Given the description of an element on the screen output the (x, y) to click on. 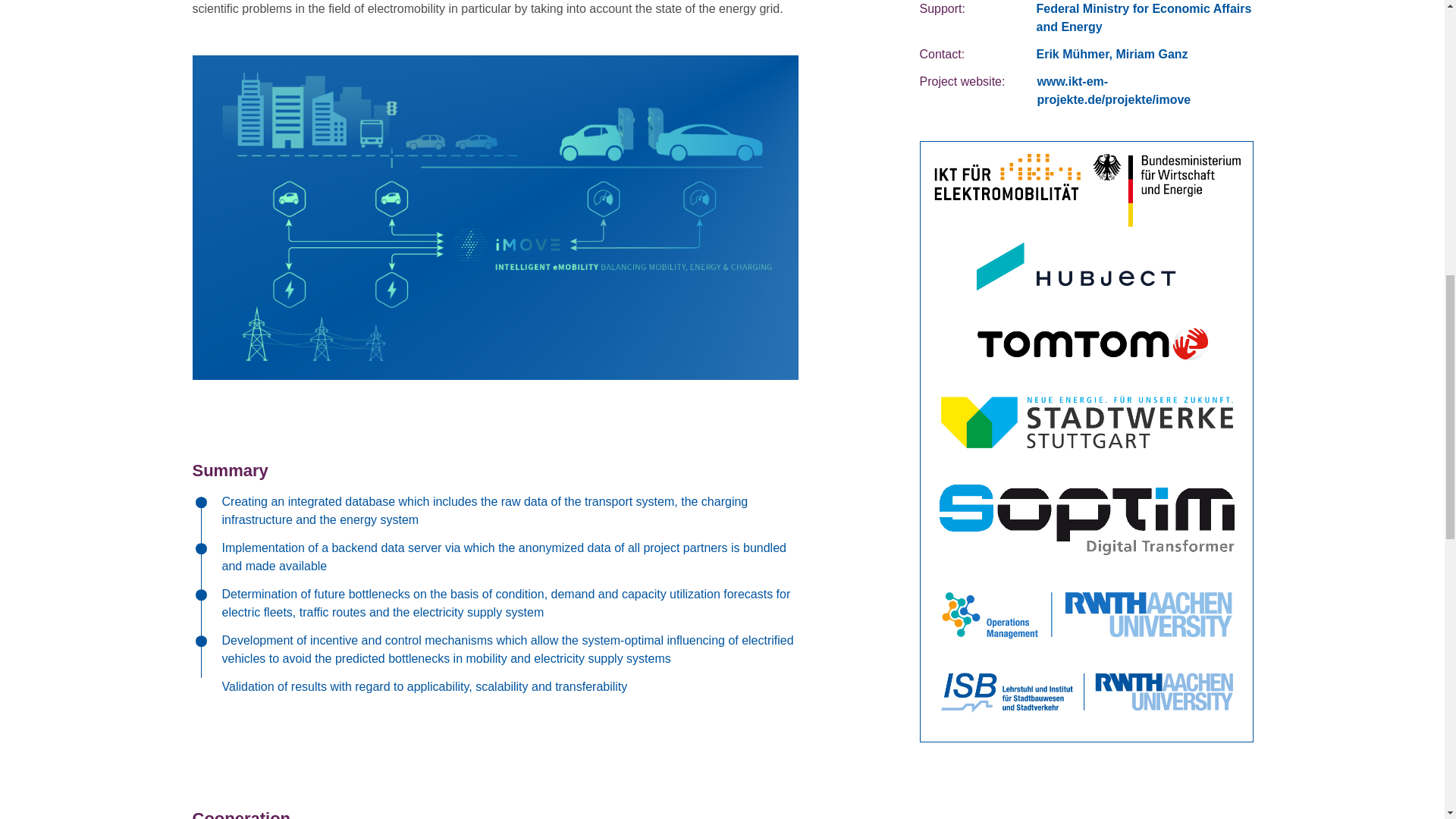
Federal Ministry for Economic Affairs and Energy (1142, 17)
